Given the description of an element on the screen output the (x, y) to click on. 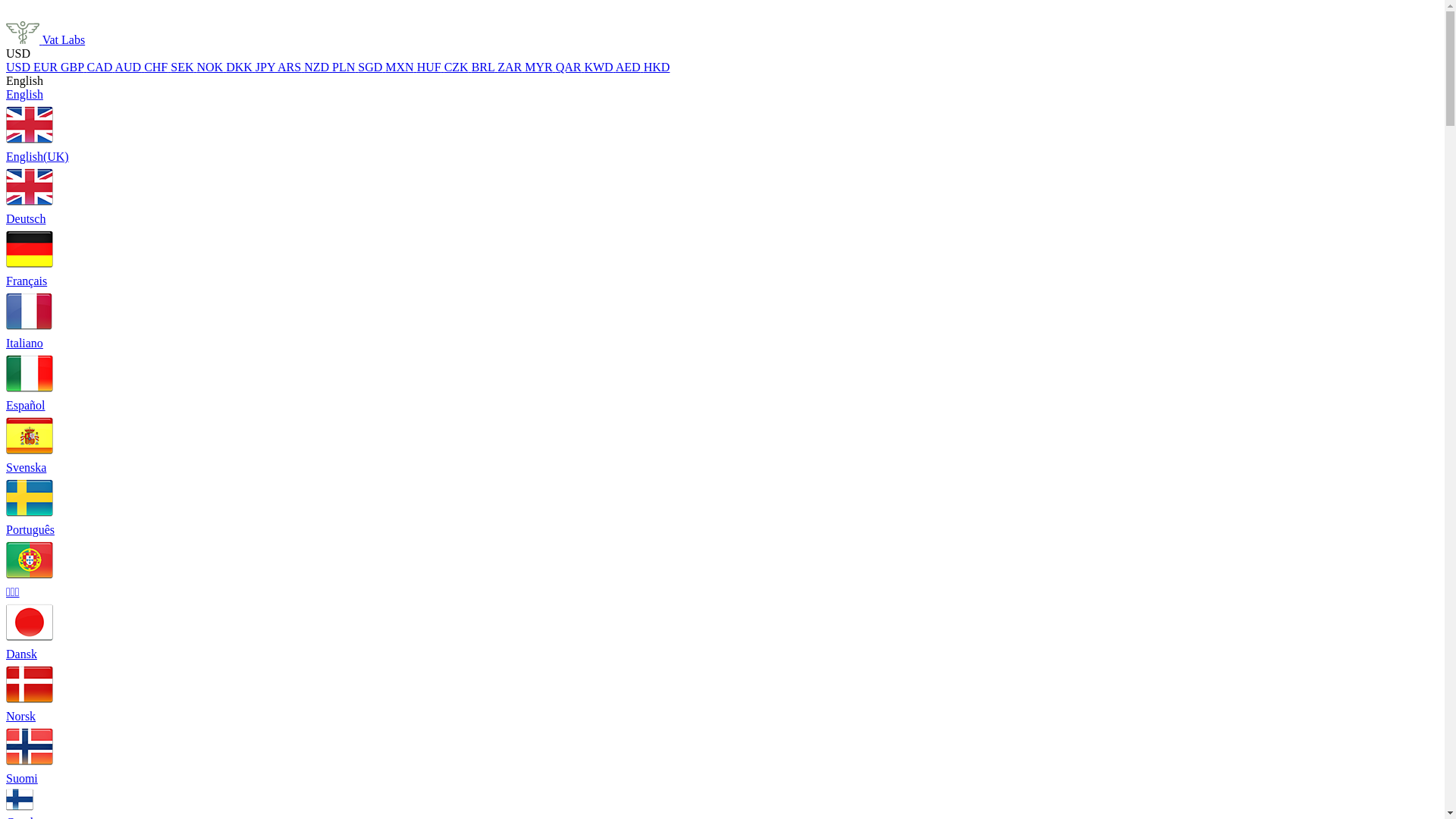
SEK Element type: text (183, 66)
Svenska Element type: text (722, 492)
KWD Element type: text (599, 66)
CHF Element type: text (157, 66)
Italiano Element type: text (722, 367)
QAR Element type: text (569, 66)
USD Element type: text (19, 66)
PLN Element type: text (344, 66)
SGD Element type: text (371, 66)
English(UK) Element type: text (722, 181)
ZAR Element type: text (510, 66)
HKD Element type: text (656, 66)
NZD Element type: text (318, 66)
AUD Element type: text (129, 66)
GBP Element type: text (73, 66)
Dansk Element type: text (722, 678)
Norsk Element type: text (722, 740)
DKK Element type: text (240, 66)
JPY Element type: text (266, 66)
EUR Element type: text (46, 66)
HUF Element type: text (430, 66)
Deutsch Element type: text (722, 243)
AED Element type: text (629, 66)
MYR Element type: text (539, 66)
Vat Labs Element type: text (45, 39)
CZK Element type: text (457, 66)
ARS Element type: text (290, 66)
MXN Element type: text (400, 66)
CAD Element type: text (101, 66)
BRL Element type: text (484, 66)
English Element type: text (722, 118)
Suomi Element type: text (722, 793)
NOK Element type: text (210, 66)
